Given the description of an element on the screen output the (x, y) to click on. 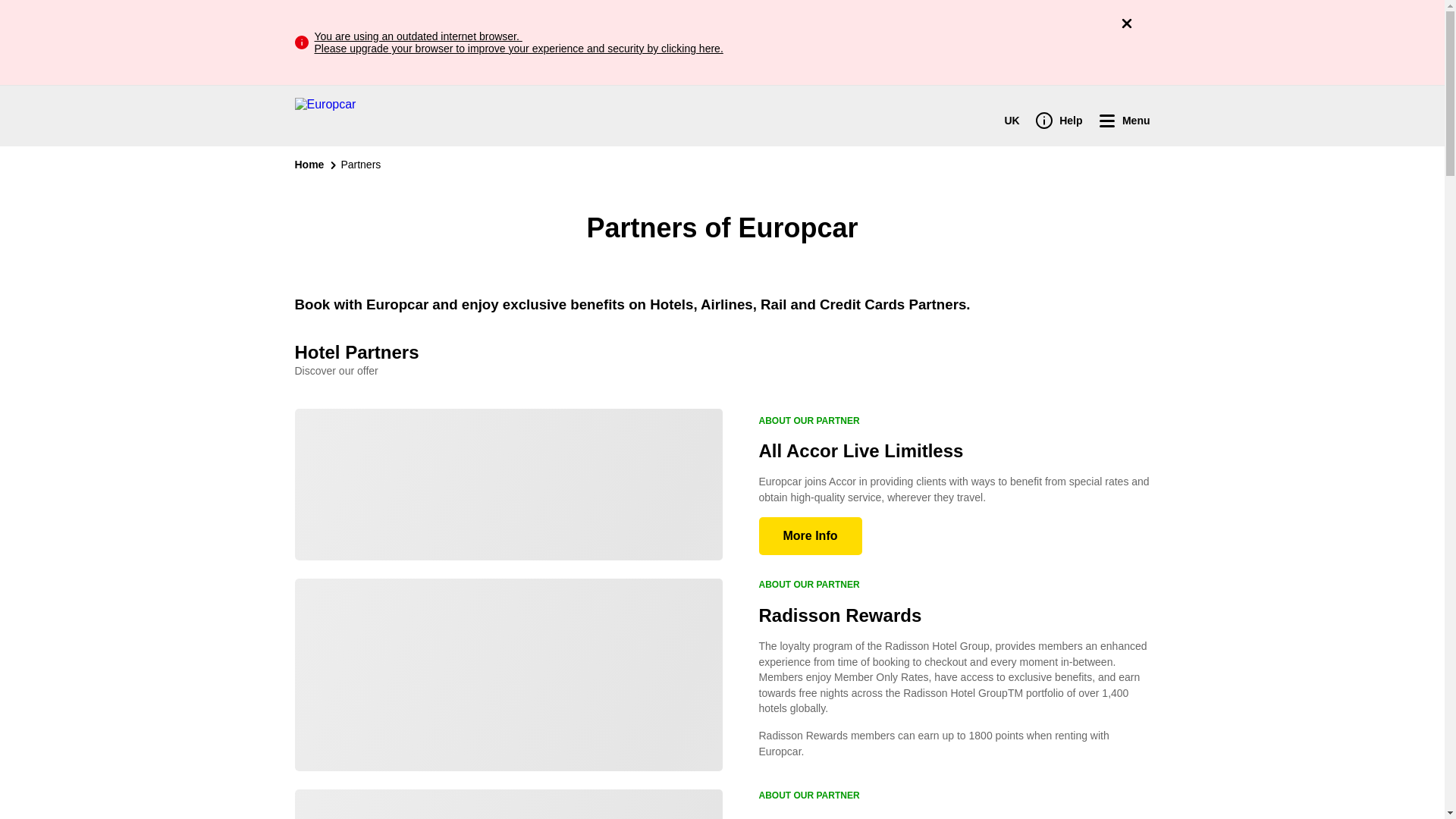
Menu (1123, 121)
More Info (809, 535)
Home (308, 164)
Help (1058, 121)
UK (999, 121)
